Given the description of an element on the screen output the (x, y) to click on. 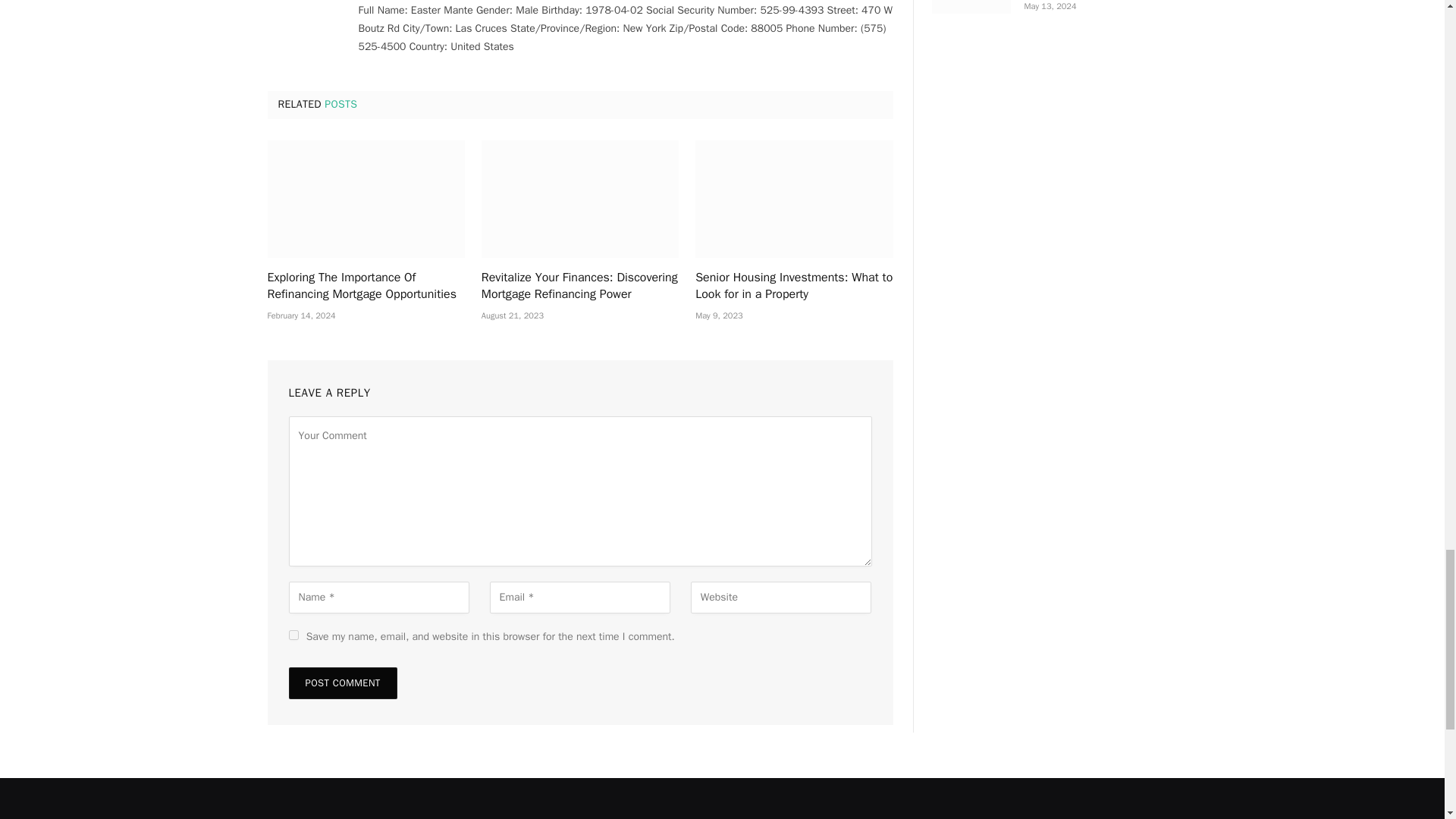
Post Comment (342, 683)
yes (293, 634)
